Given the description of an element on the screen output the (x, y) to click on. 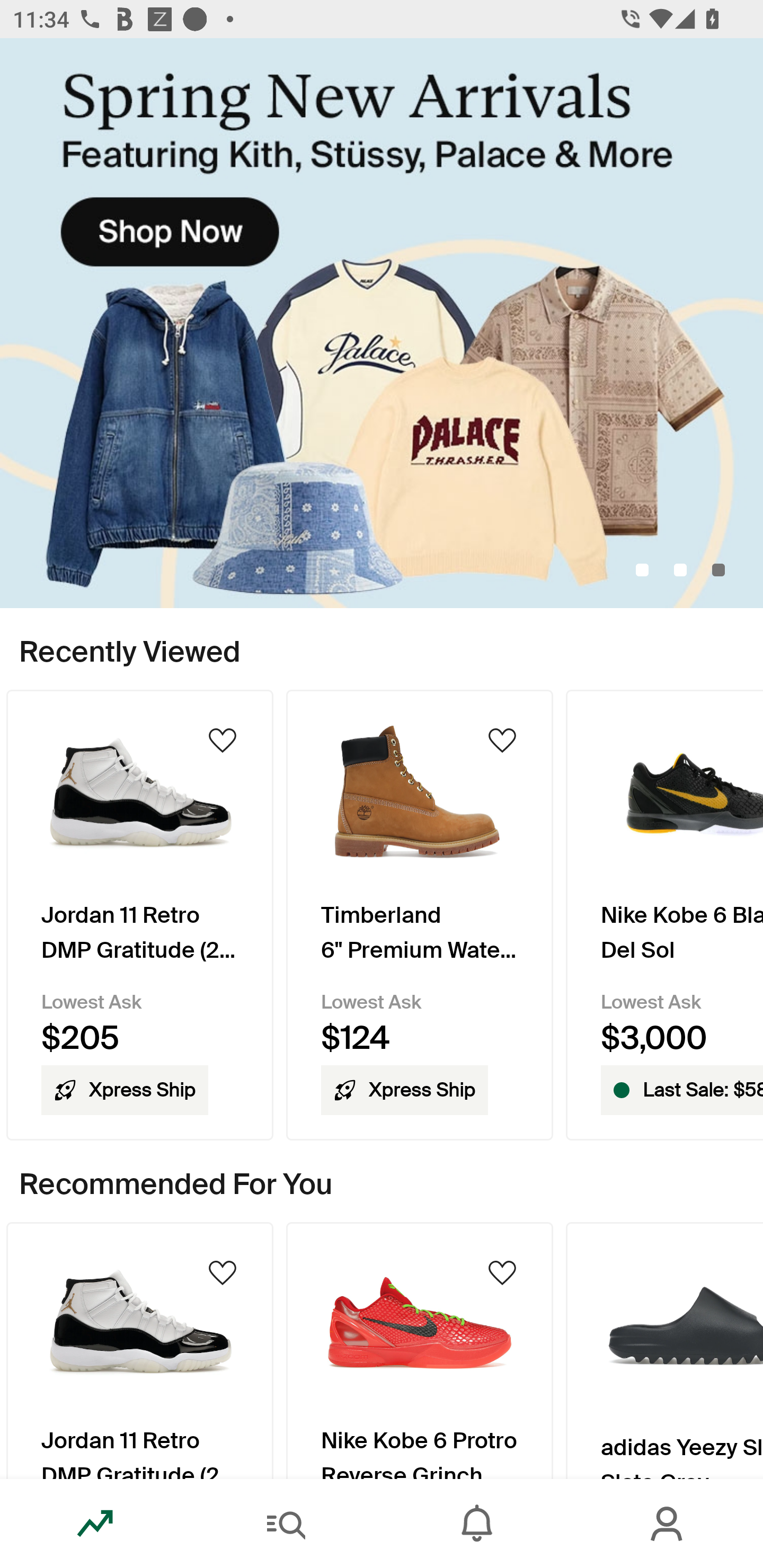
SpringNewArrivals-KithStussy_Primary_Mobile.jpg (381, 322)
Product Image Jordan 11 Retro DMP Gratitude (2023) (139, 1349)
Product Image Nike Kobe 6 Protro Reverse Grinch (419, 1349)
Product Image adidas Yeezy Slide Slate Grey (664, 1349)
Search (285, 1523)
Inbox (476, 1523)
Account (667, 1523)
